Given the description of an element on the screen output the (x, y) to click on. 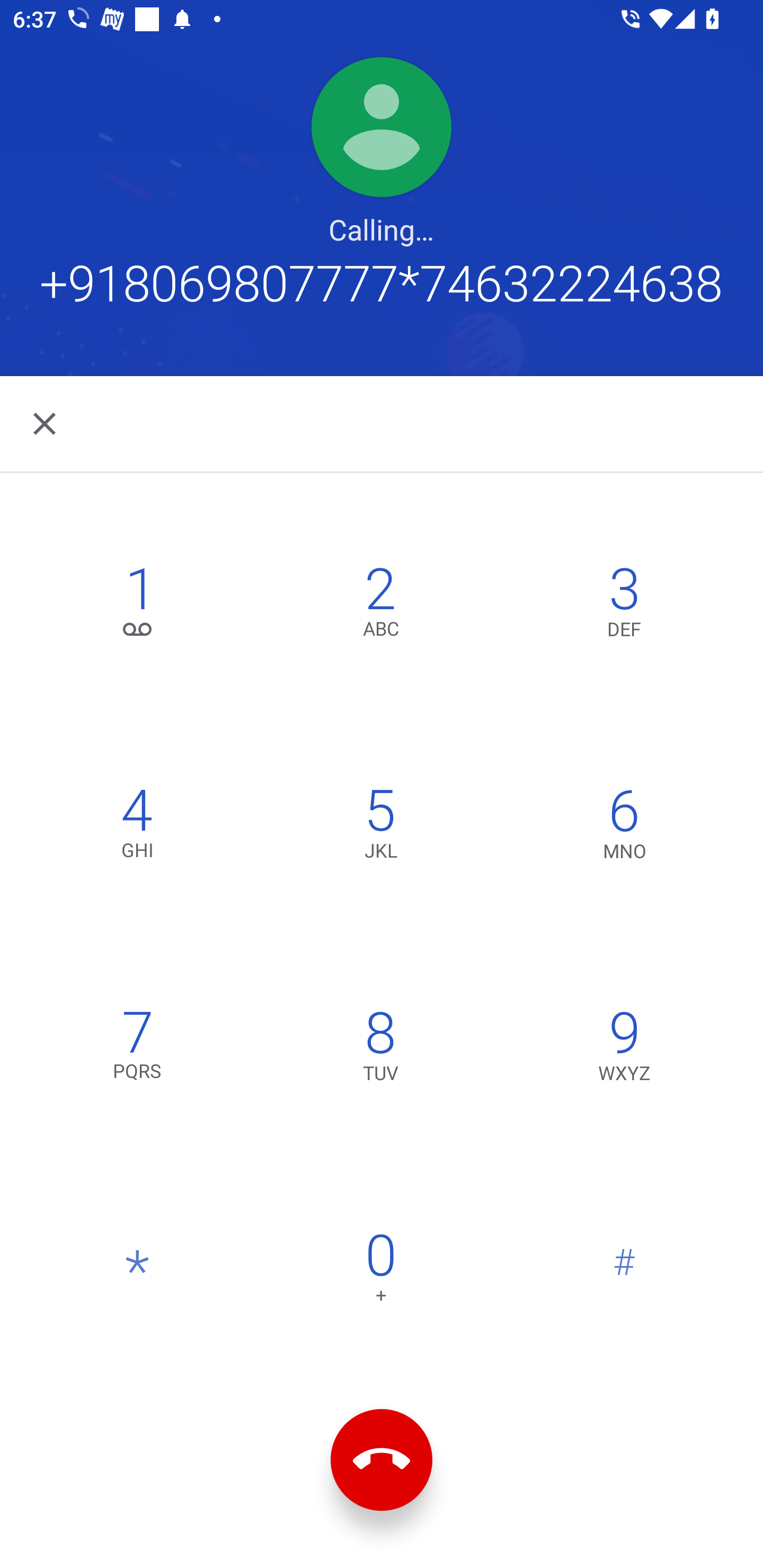
Navigate back (45, 423)
1, 1 (137, 605)
2,ABC 2 ABC (380, 605)
3,DEF 3 DEF (624, 605)
4,GHI 4 GHI (137, 827)
5,JKL 5 JKL (380, 827)
6,MNO 6 MNO (624, 827)
7,PQRS 7 PQRS (137, 1050)
8,TUV 8 TUV (380, 1050)
9,WXYZ 9 WXYZ (624, 1050)
* (137, 1271)
0 0 + (380, 1271)
# (624, 1271)
End call (381, 1460)
